Given the description of an element on the screen output the (x, y) to click on. 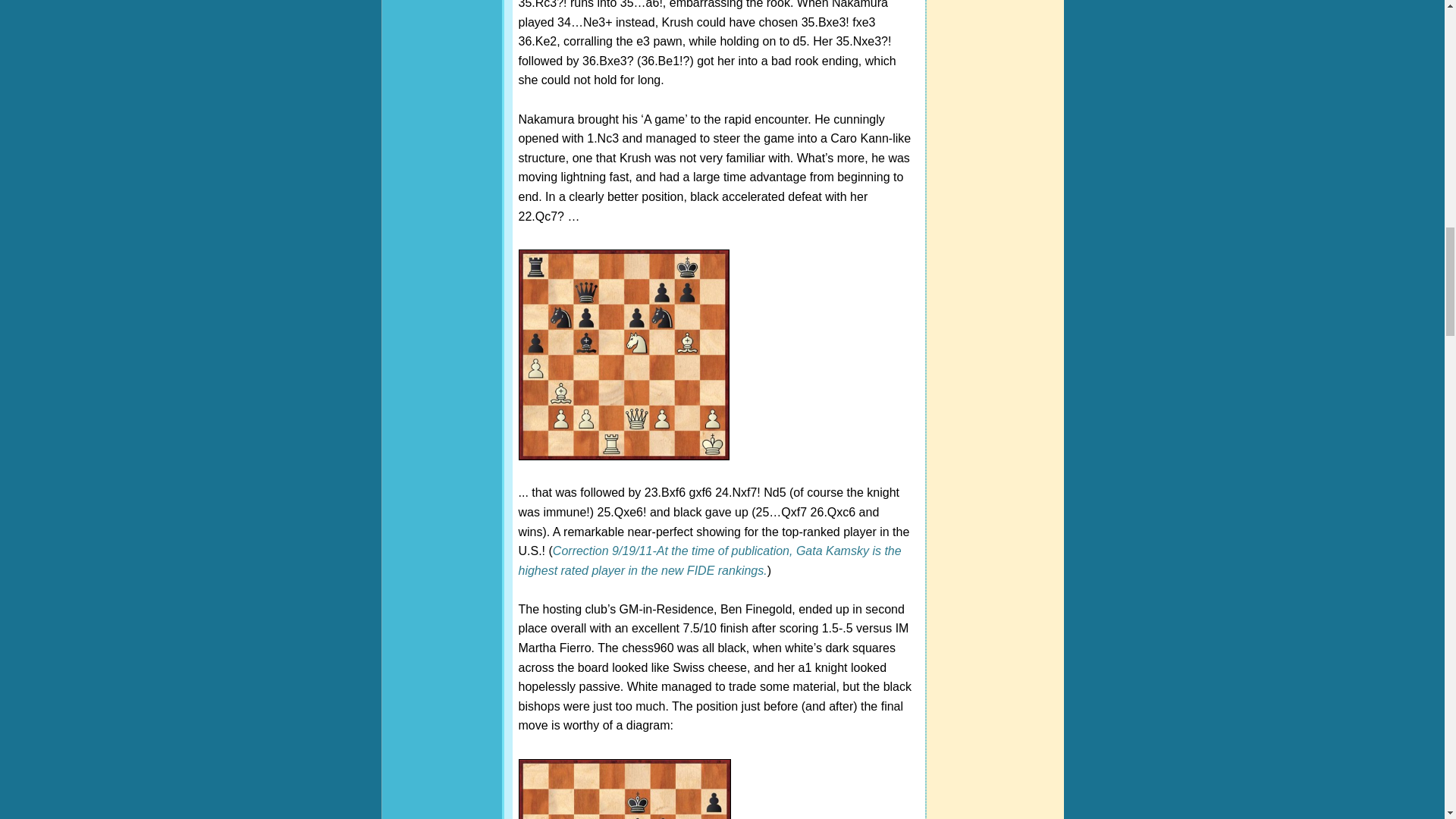
FierroFinegold.jpg (624, 789)
NakamuraKrush.jpg (623, 354)
